Given the description of an element on the screen output the (x, y) to click on. 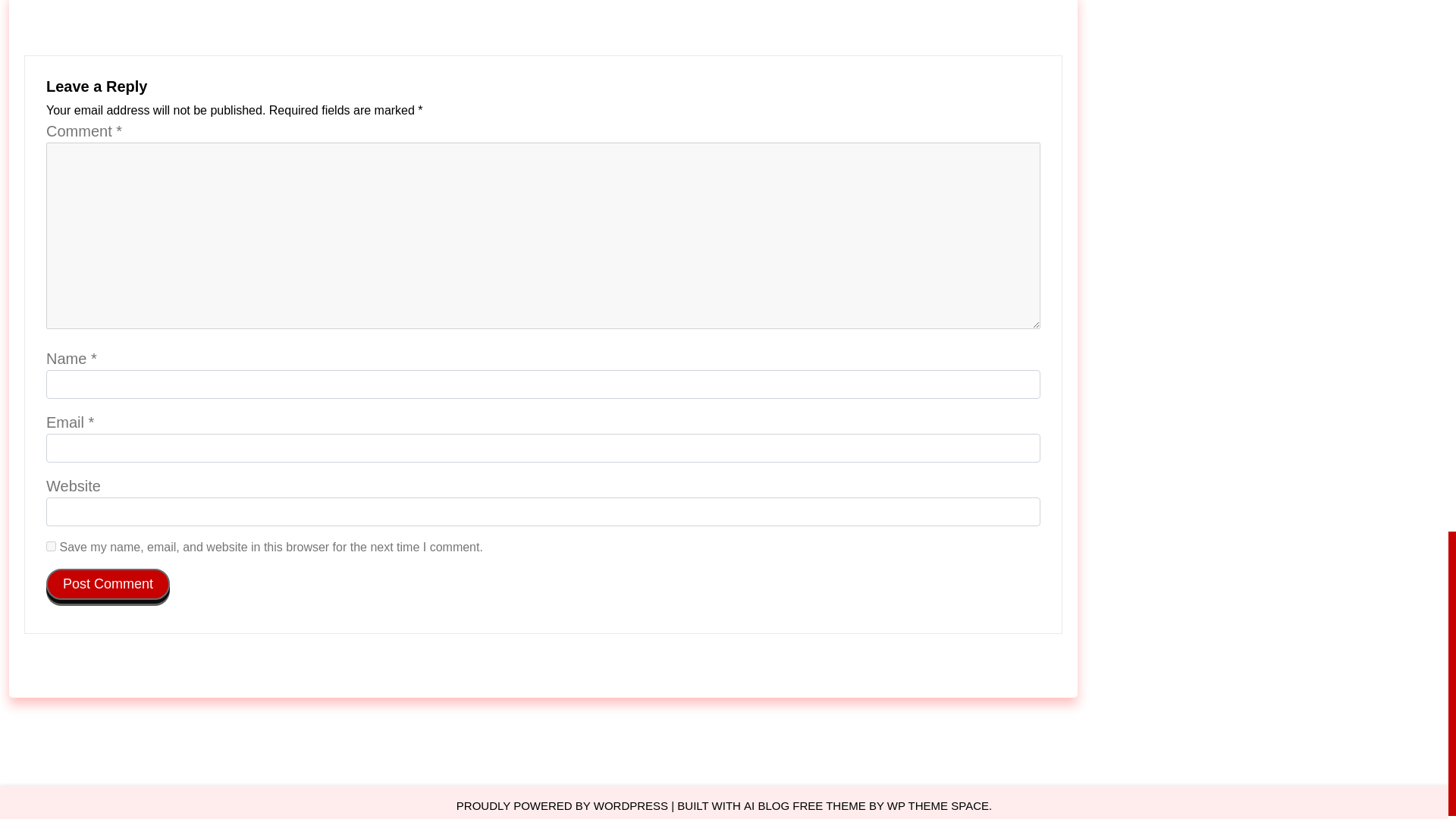
yes (51, 546)
Post Comment (108, 583)
PROUDLY POWERED BY WORDPRESS (562, 805)
Post Comment (108, 583)
AI BLOG (766, 805)
